Given the description of an element on the screen output the (x, y) to click on. 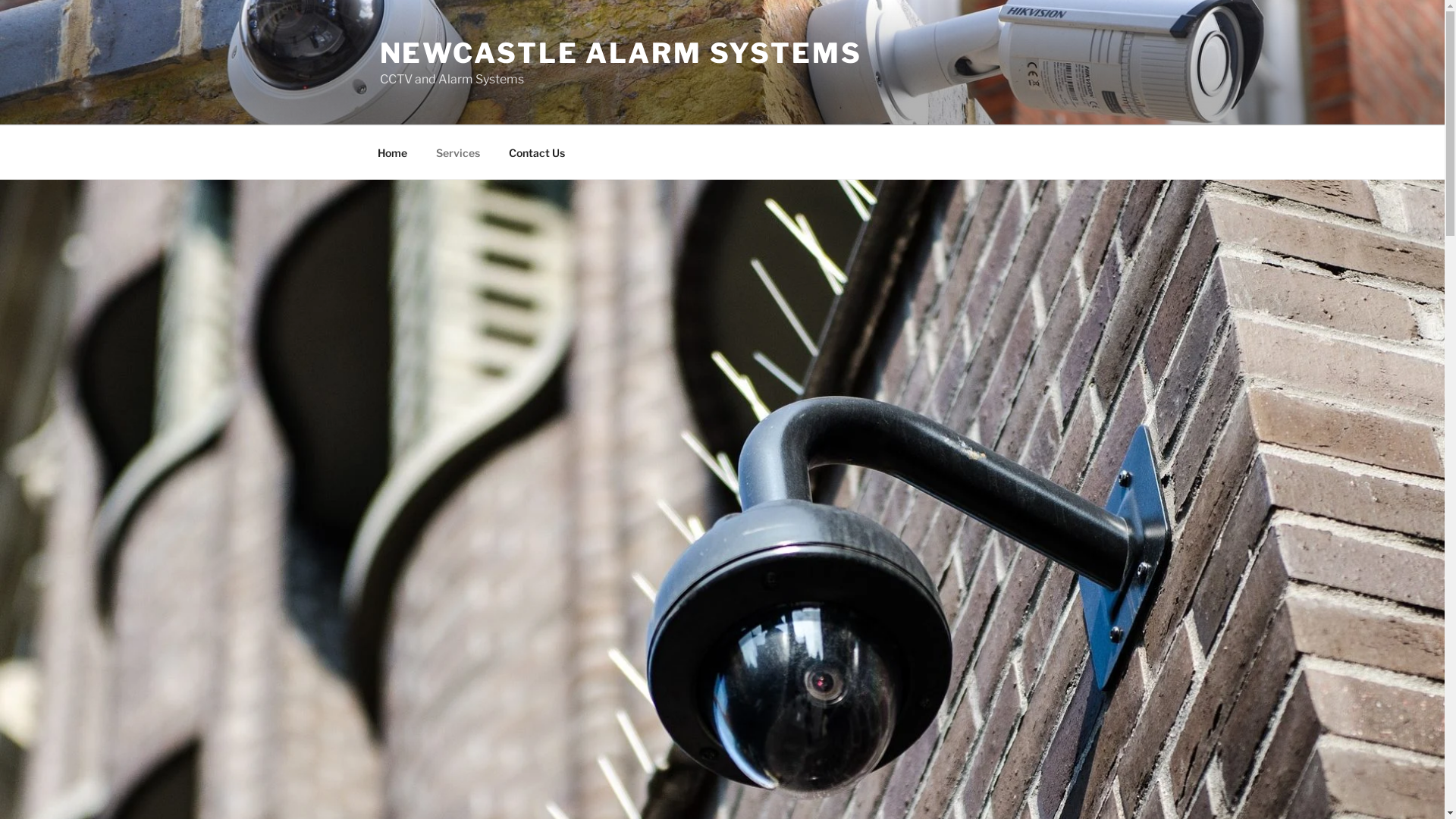
Home Element type: text (392, 151)
NEWCASTLE ALARM SYSTEMS Element type: text (620, 52)
Contact Us Element type: text (536, 151)
Services Element type: text (458, 151)
